Given the description of an element on the screen output the (x, y) to click on. 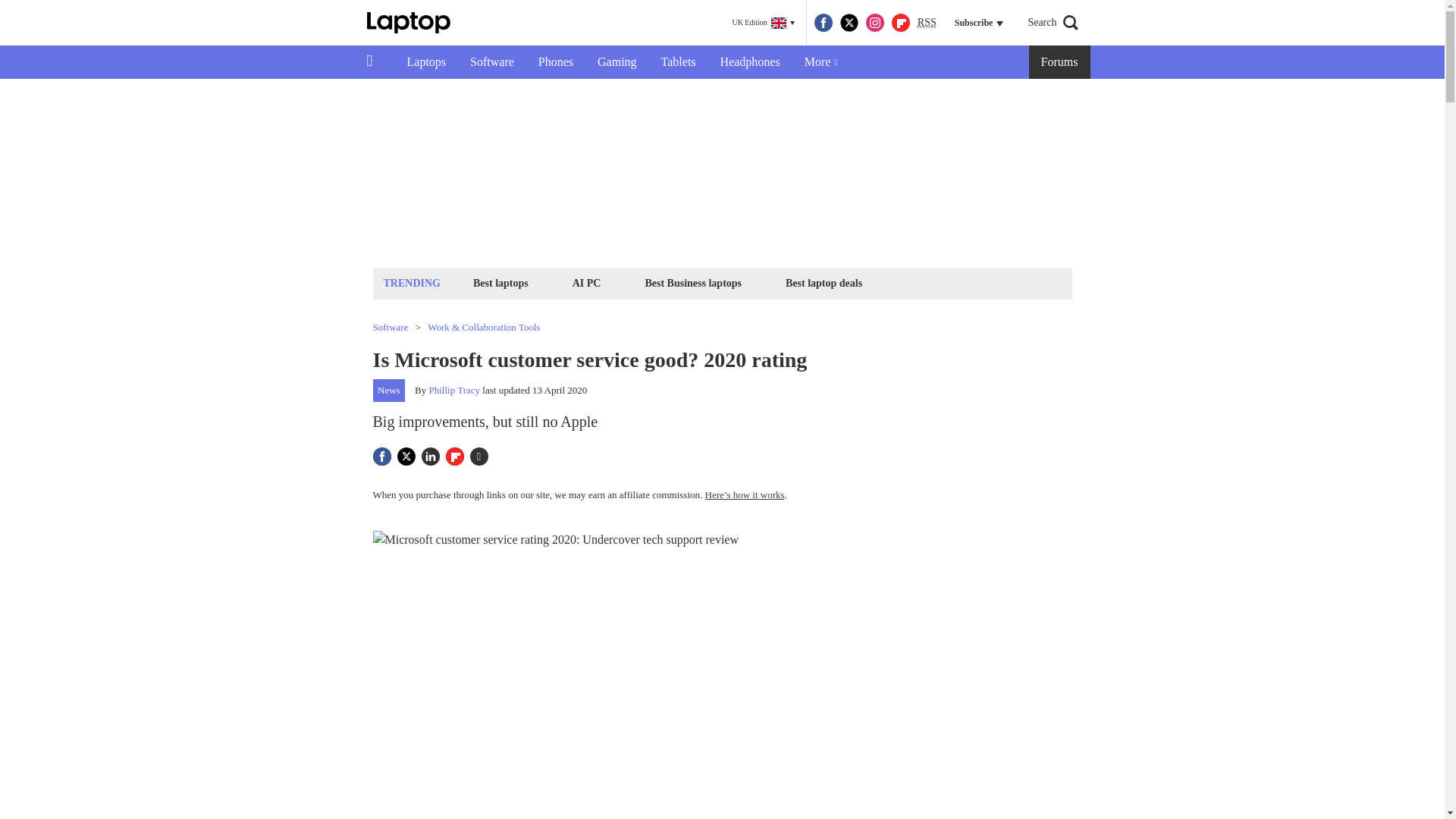
Laptops (426, 61)
Tablets (678, 61)
UK Edition (762, 22)
Best laptop deals (823, 282)
Headphones (749, 61)
Forums (1059, 61)
Software (491, 61)
Best laptops (500, 282)
AI PC (587, 282)
RSS (926, 22)
Phones (555, 61)
Best Business laptops (692, 282)
Gaming (617, 61)
Really Simple Syndication (926, 21)
